Given the description of an element on the screen output the (x, y) to click on. 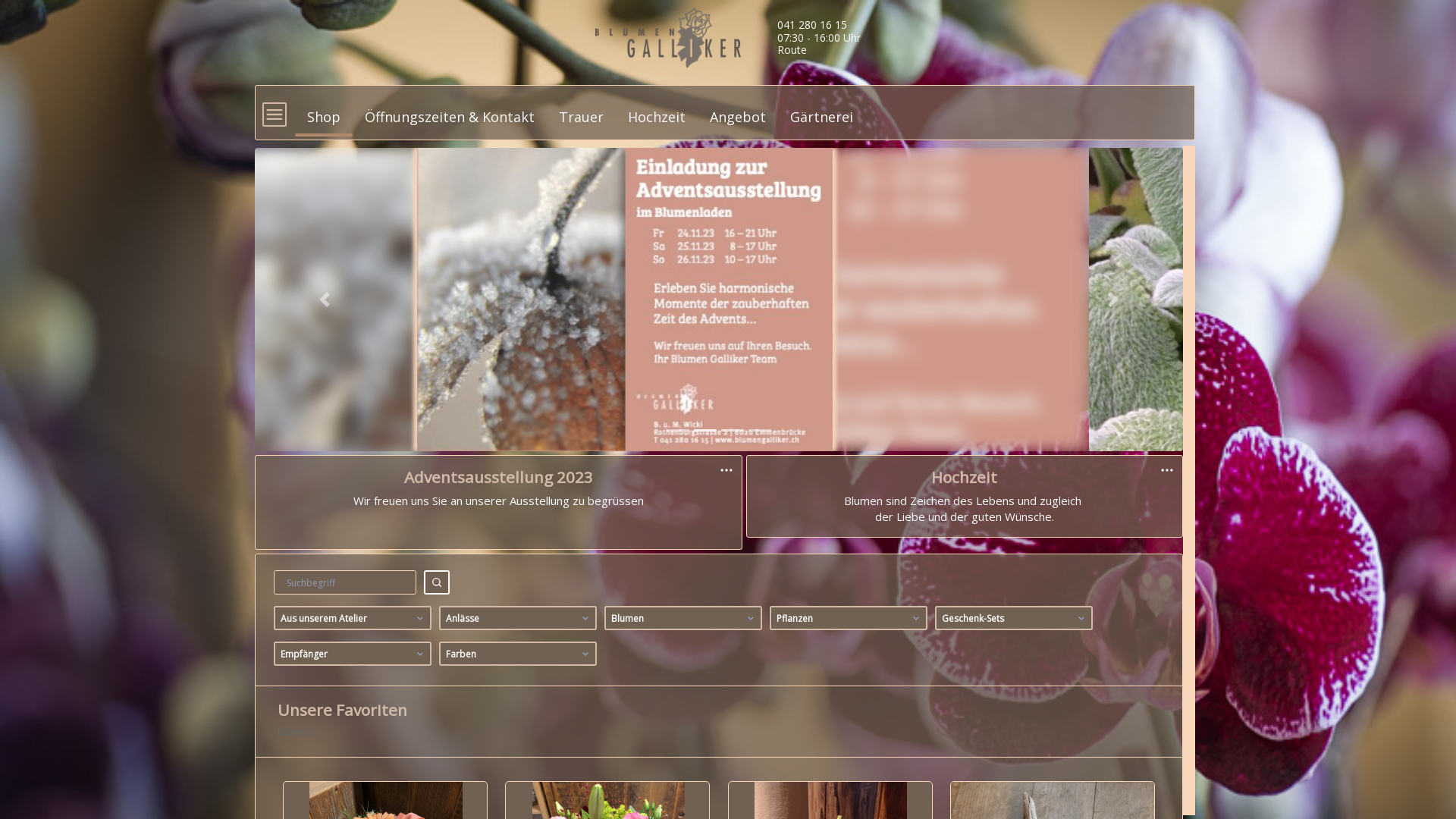
Trauer Element type: text (580, 109)
Blumen Element type: text (683, 617)
Previous Element type: text (324, 299)
041 280 16 15 Element type: text (812, 24)
Hochzeit Element type: text (656, 109)
Route Element type: text (791, 49)
Pflanzen Element type: text (848, 617)
Shop Element type: text (323, 109)
Next Element type: text (1113, 299)
Farben Element type: text (517, 653)
Angebot Element type: text (737, 109)
Aus unserem Atelier Element type: text (352, 617)
Geschenk-Sets Element type: text (1013, 617)
